Given the description of an element on the screen output the (x, y) to click on. 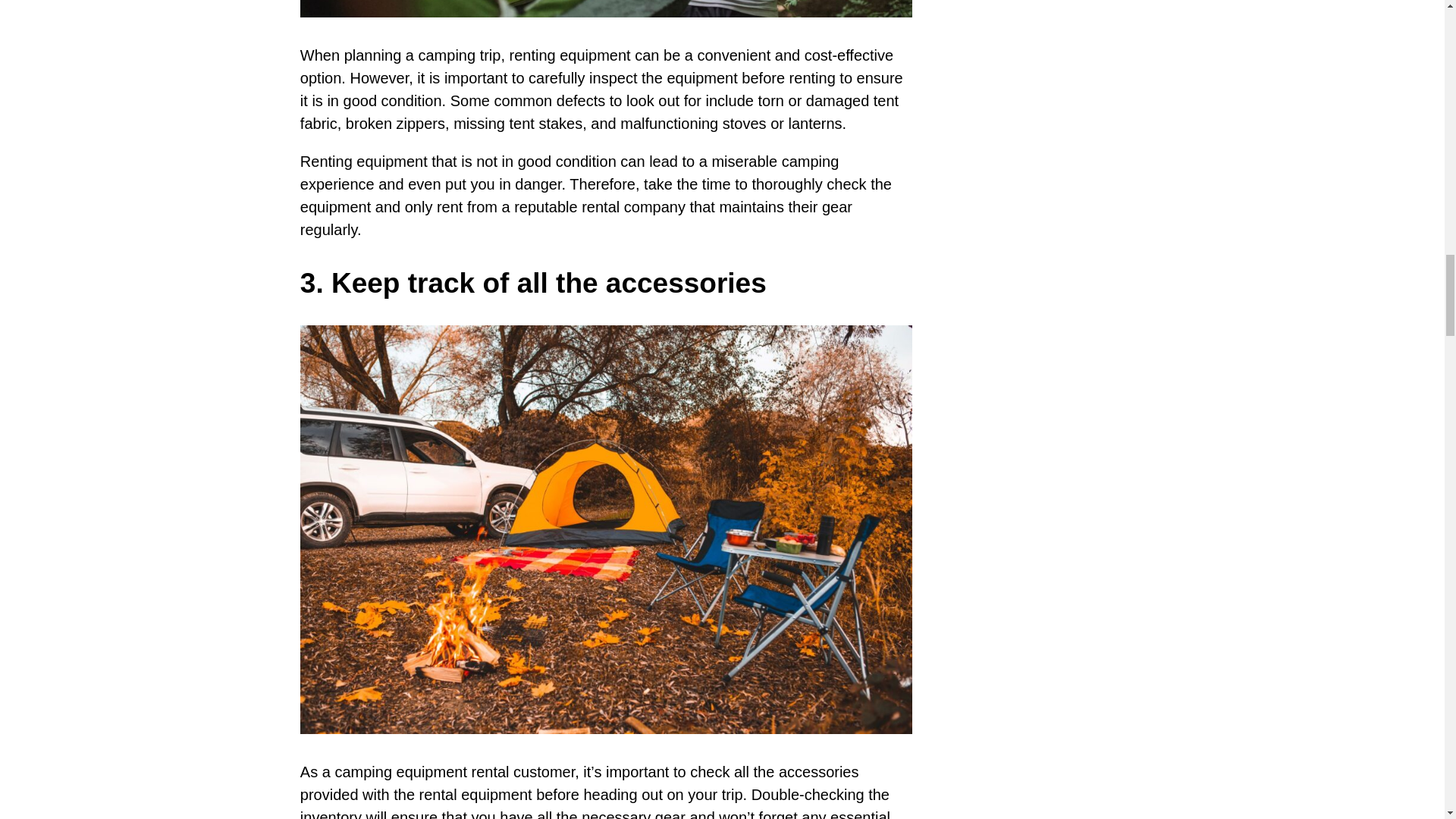
inspect-renting-camping-equipment (605, 8)
